Given the description of an element on the screen output the (x, y) to click on. 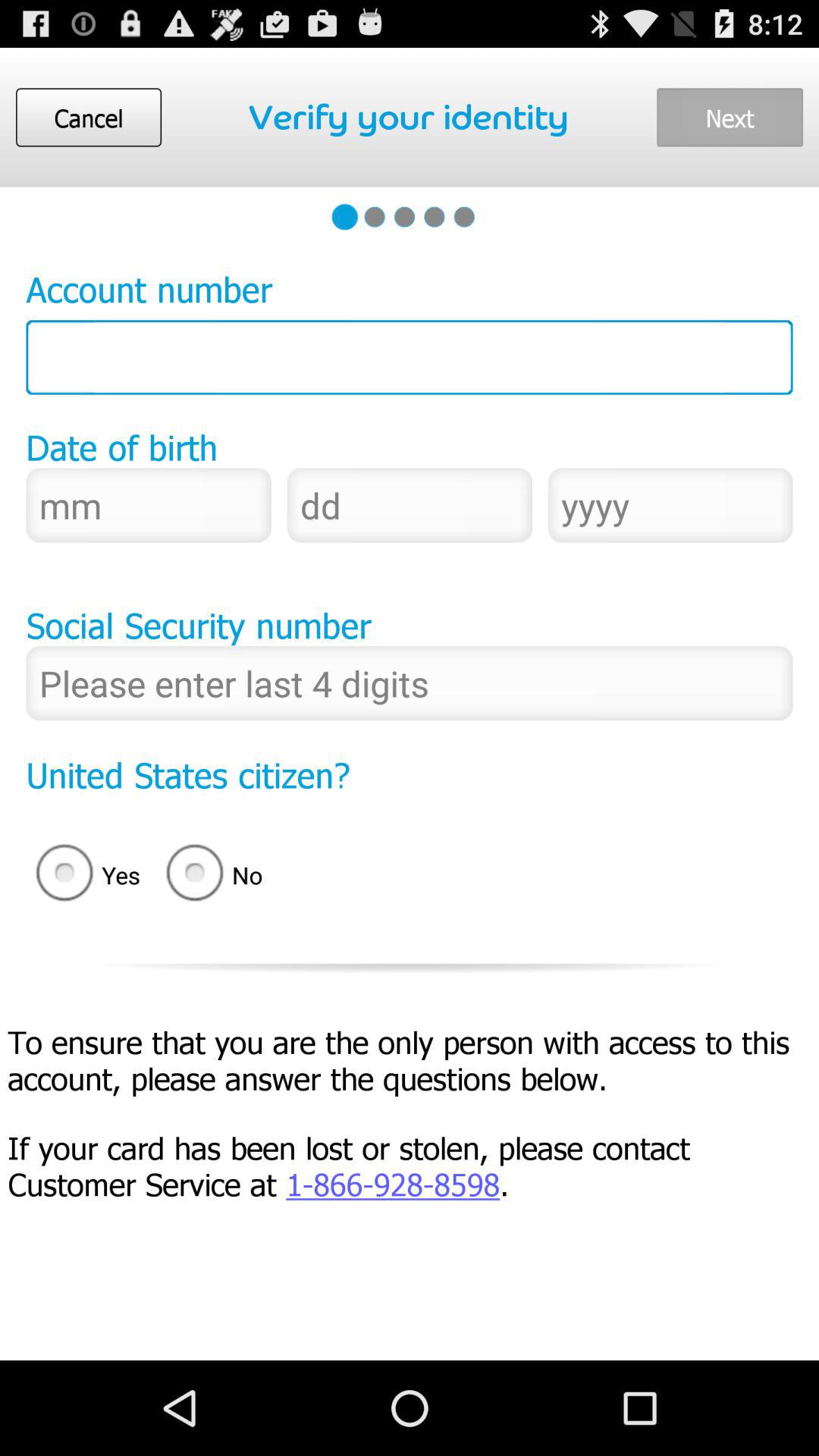
open radio button next to yes (219, 875)
